Given the description of an element on the screen output the (x, y) to click on. 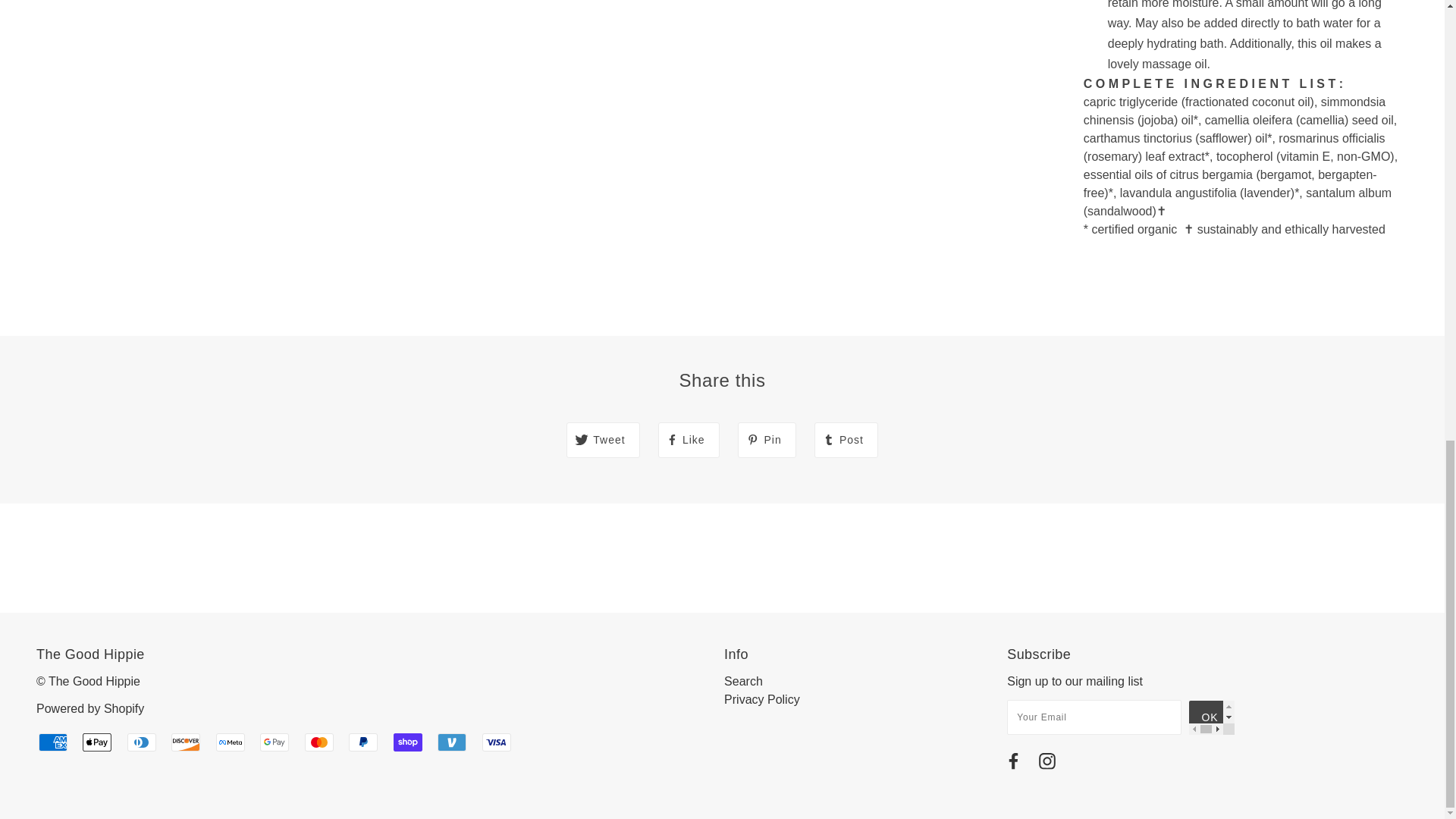
American Express (52, 742)
Meta Pay (229, 742)
Google Pay (274, 742)
PayPal (363, 742)
Discover (185, 742)
Apple Pay (97, 742)
Diners Club (141, 742)
Search (742, 680)
Privacy Policy (761, 698)
Mastercard (318, 742)
